Given the description of an element on the screen output the (x, y) to click on. 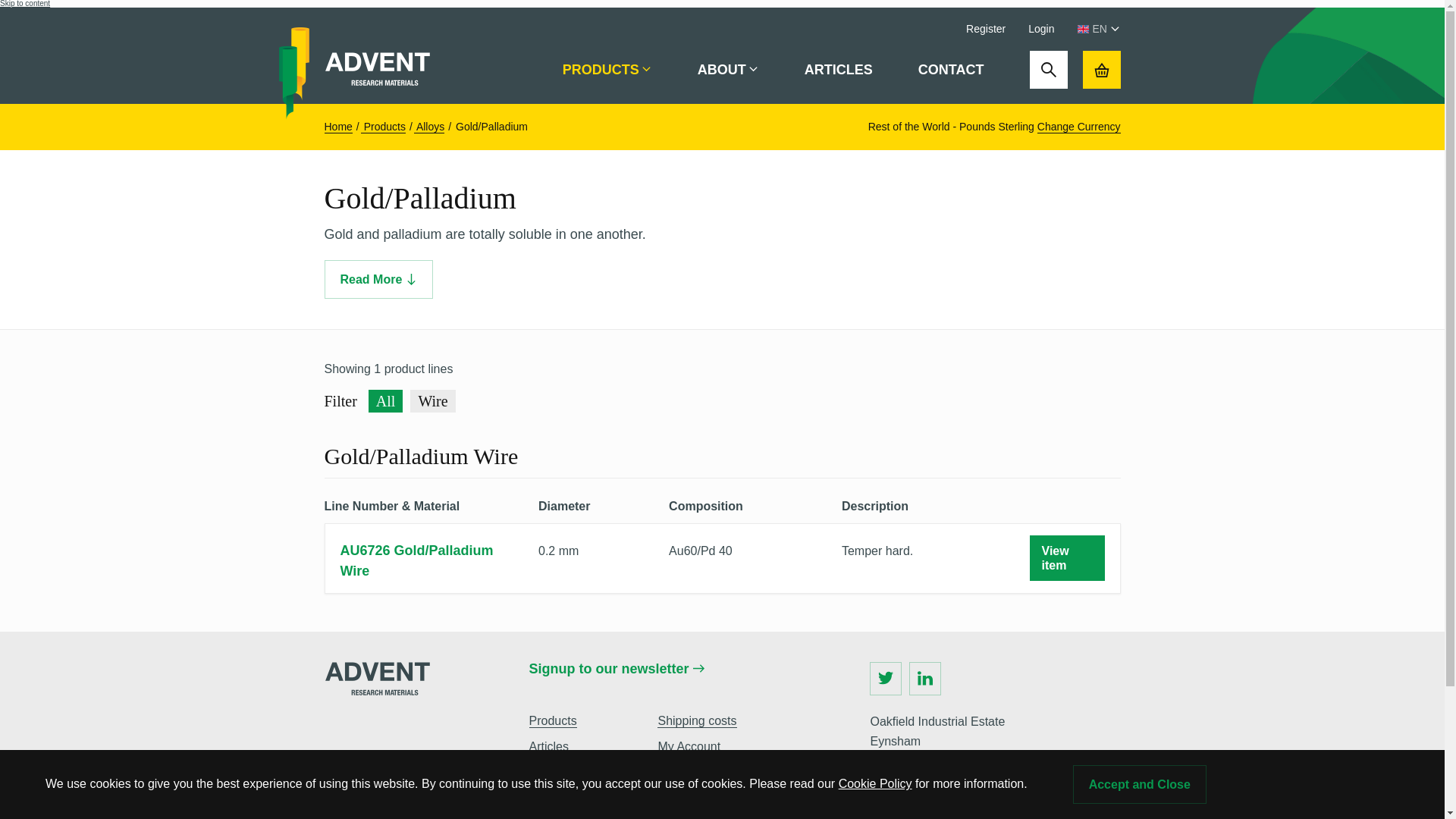
Advent Research Materials Home (377, 69)
ABOUT (727, 69)
Basket (1102, 69)
Search (1048, 69)
CONTACT (951, 69)
Skip to content (24, 3)
ARTICLES (838, 69)
Login (1040, 28)
PRODUCTS (607, 69)
Register (986, 28)
